Given the description of an element on the screen output the (x, y) to click on. 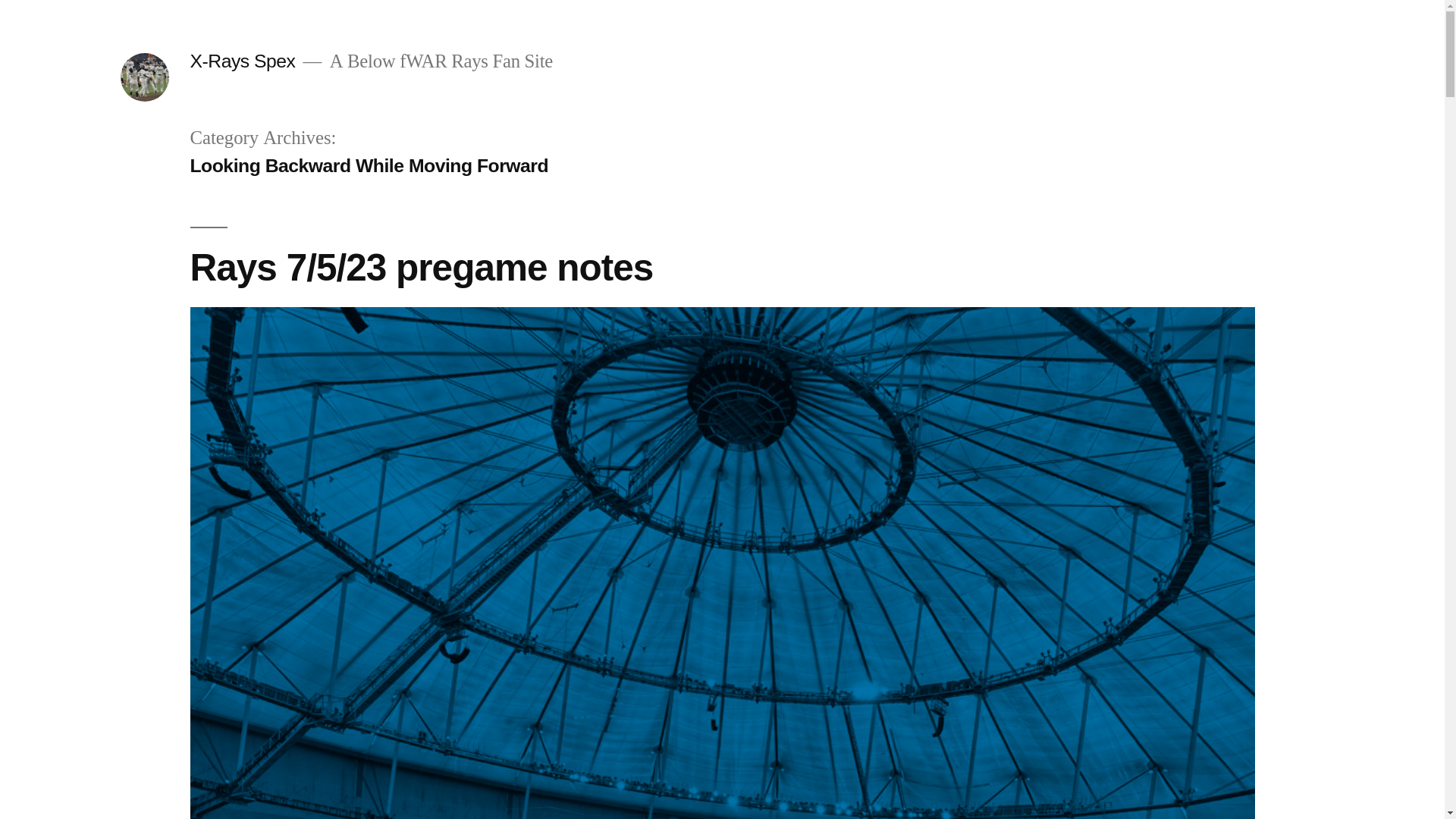
X-Rays Spex (242, 60)
